Given the description of an element on the screen output the (x, y) to click on. 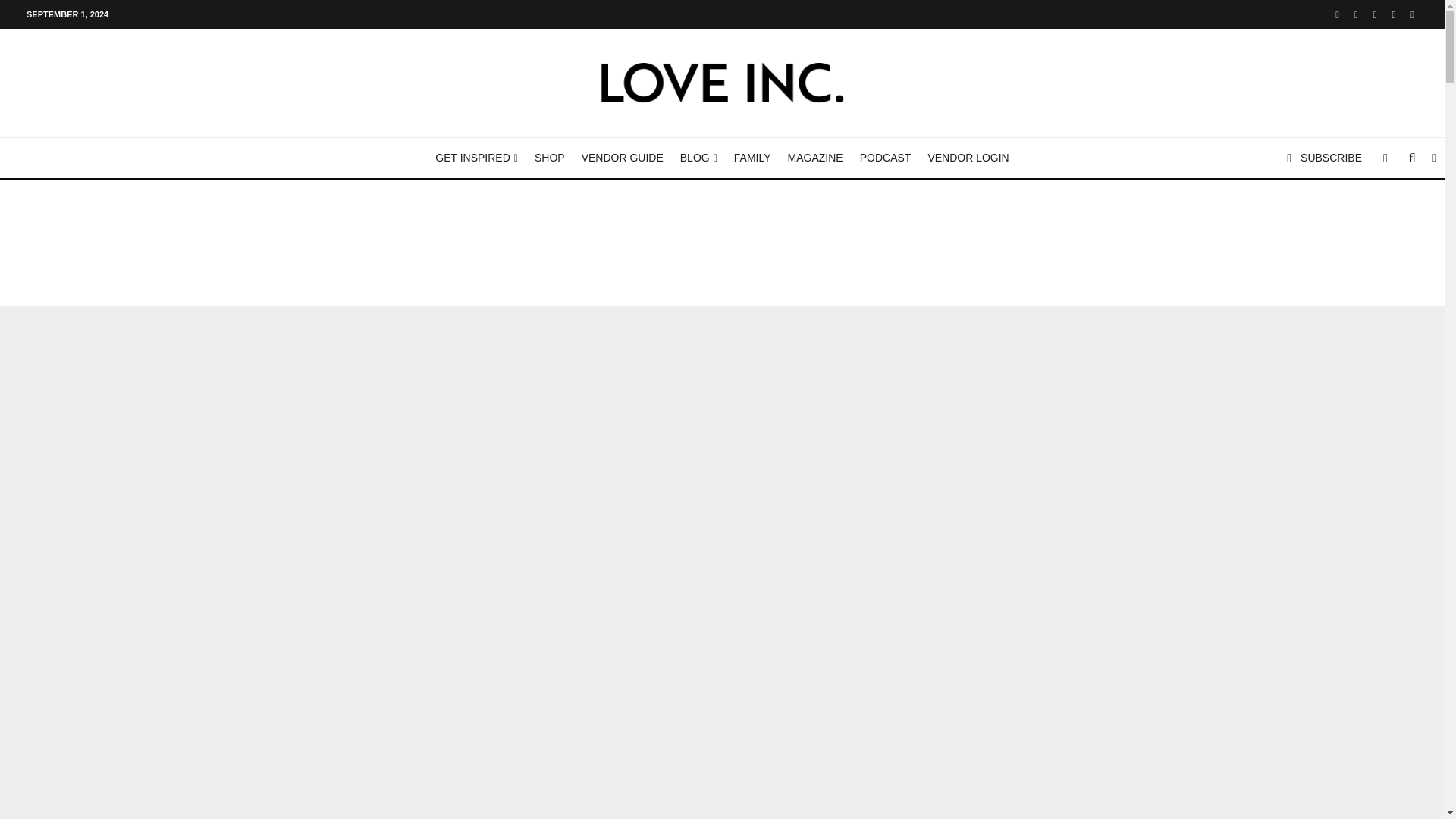
FAMILY (751, 158)
GET INSPIRED (475, 158)
VENDOR GUIDE (622, 158)
MAGAZINE (814, 158)
VENDOR LOGIN (967, 158)
BLOG (698, 158)
PODCAST (885, 158)
SHOP (549, 158)
SUBSCRIBE (1324, 158)
